Given the description of an element on the screen output the (x, y) to click on. 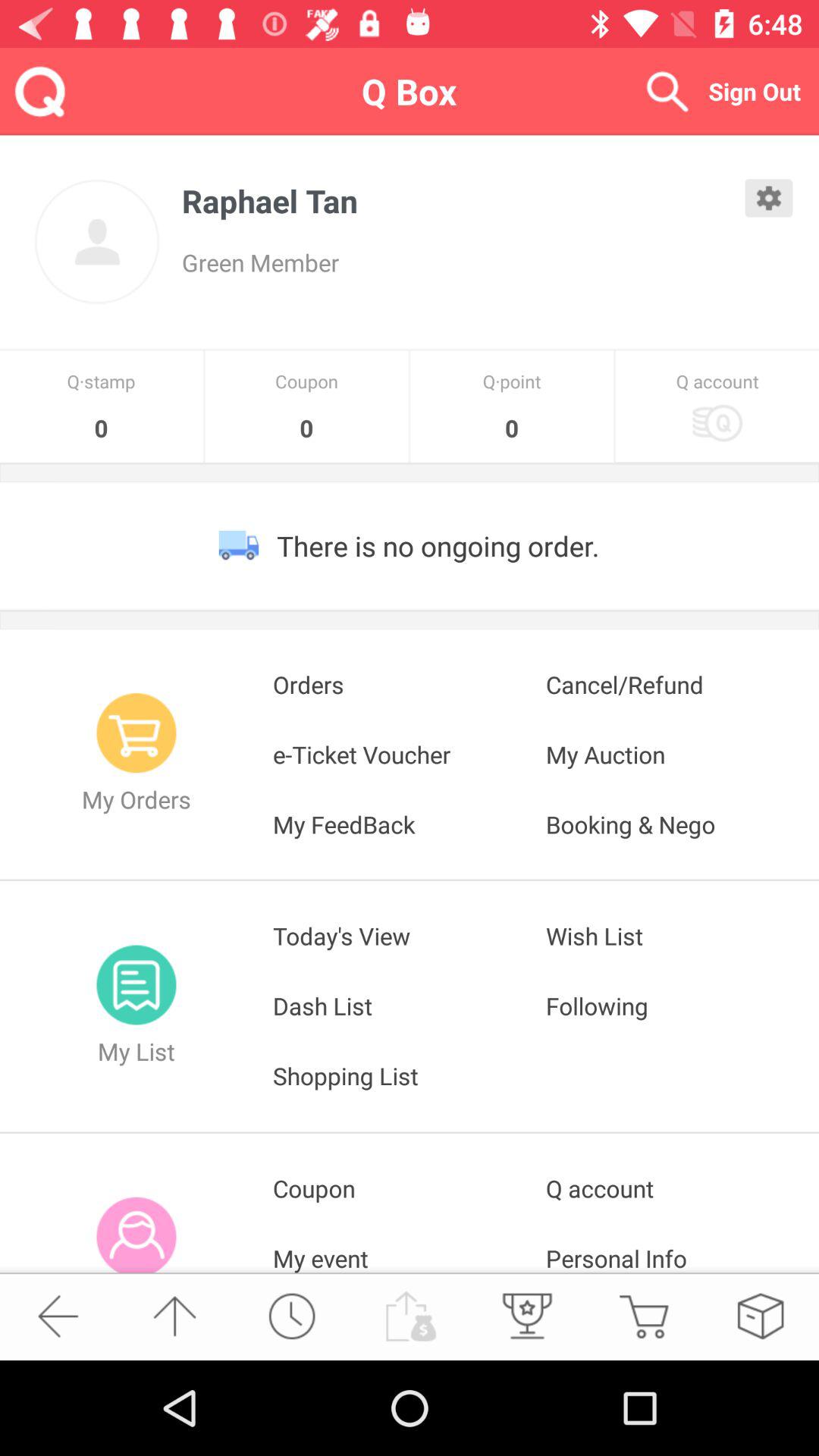
scroll until dash list app (409, 1005)
